Given the description of an element on the screen output the (x, y) to click on. 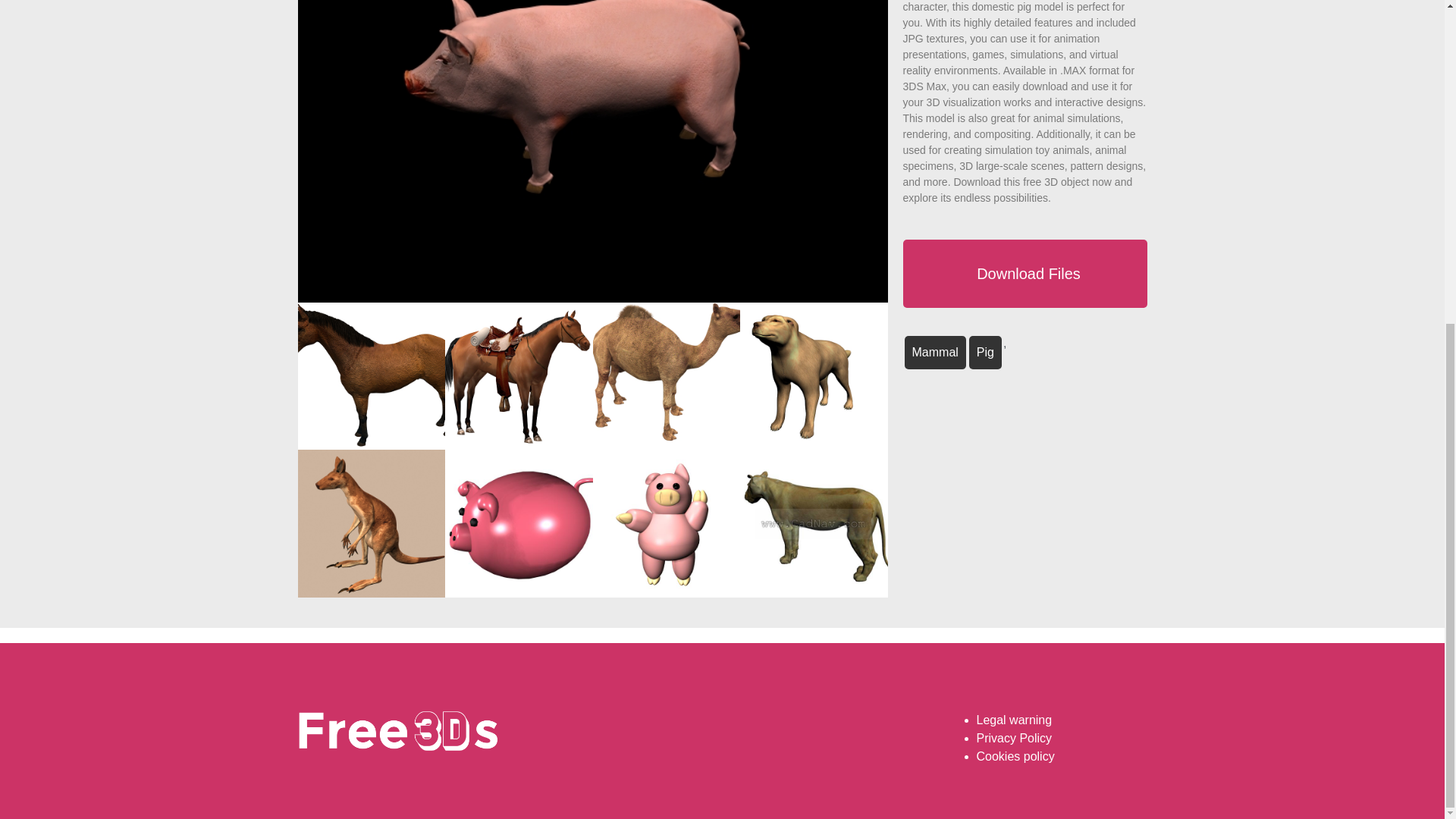
Mammal (934, 352)
Pig (985, 352)
